Given the description of an element on the screen output the (x, y) to click on. 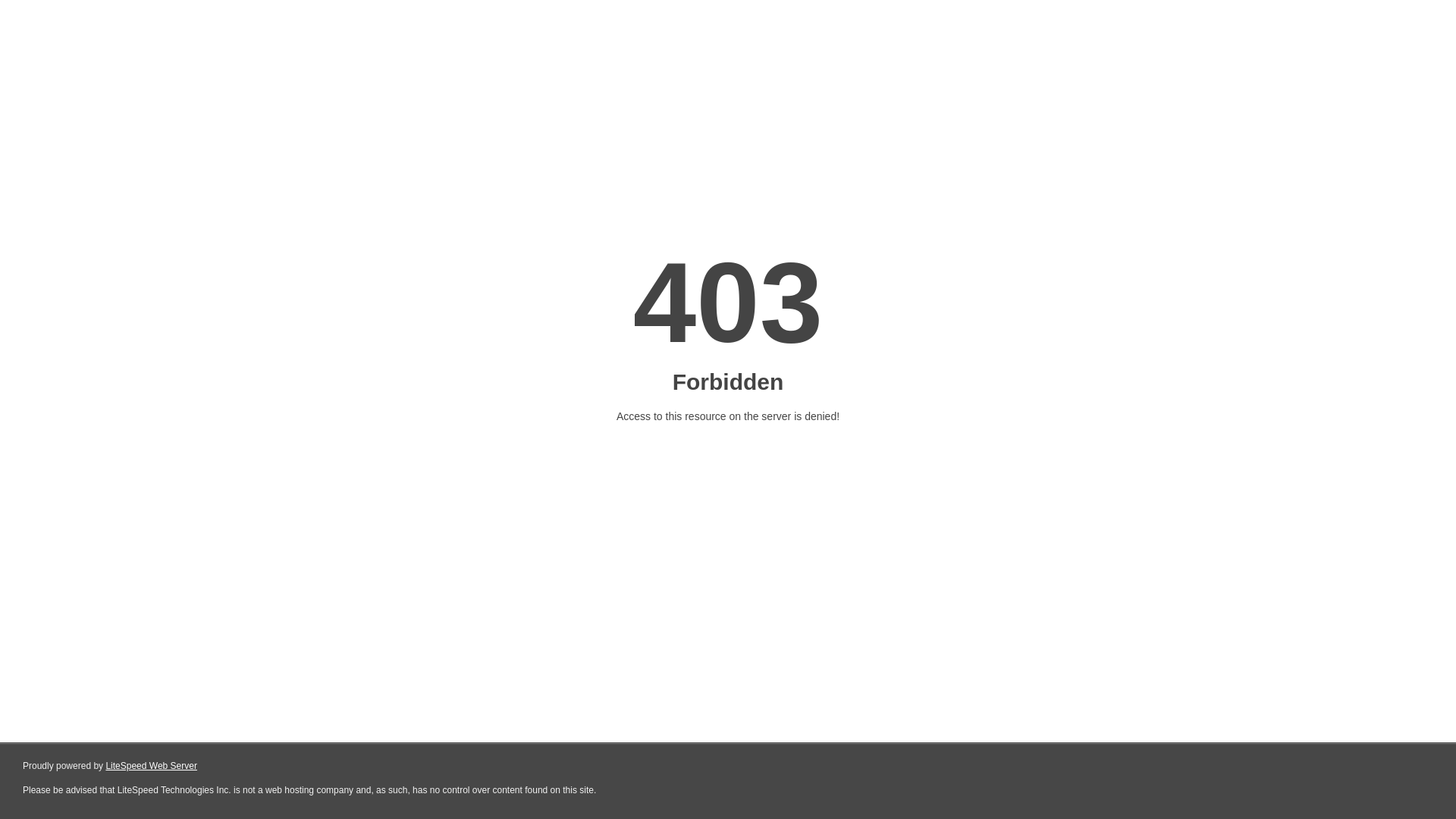
LiteSpeed Web Server Element type: text (151, 765)
